Given the description of an element on the screen output the (x, y) to click on. 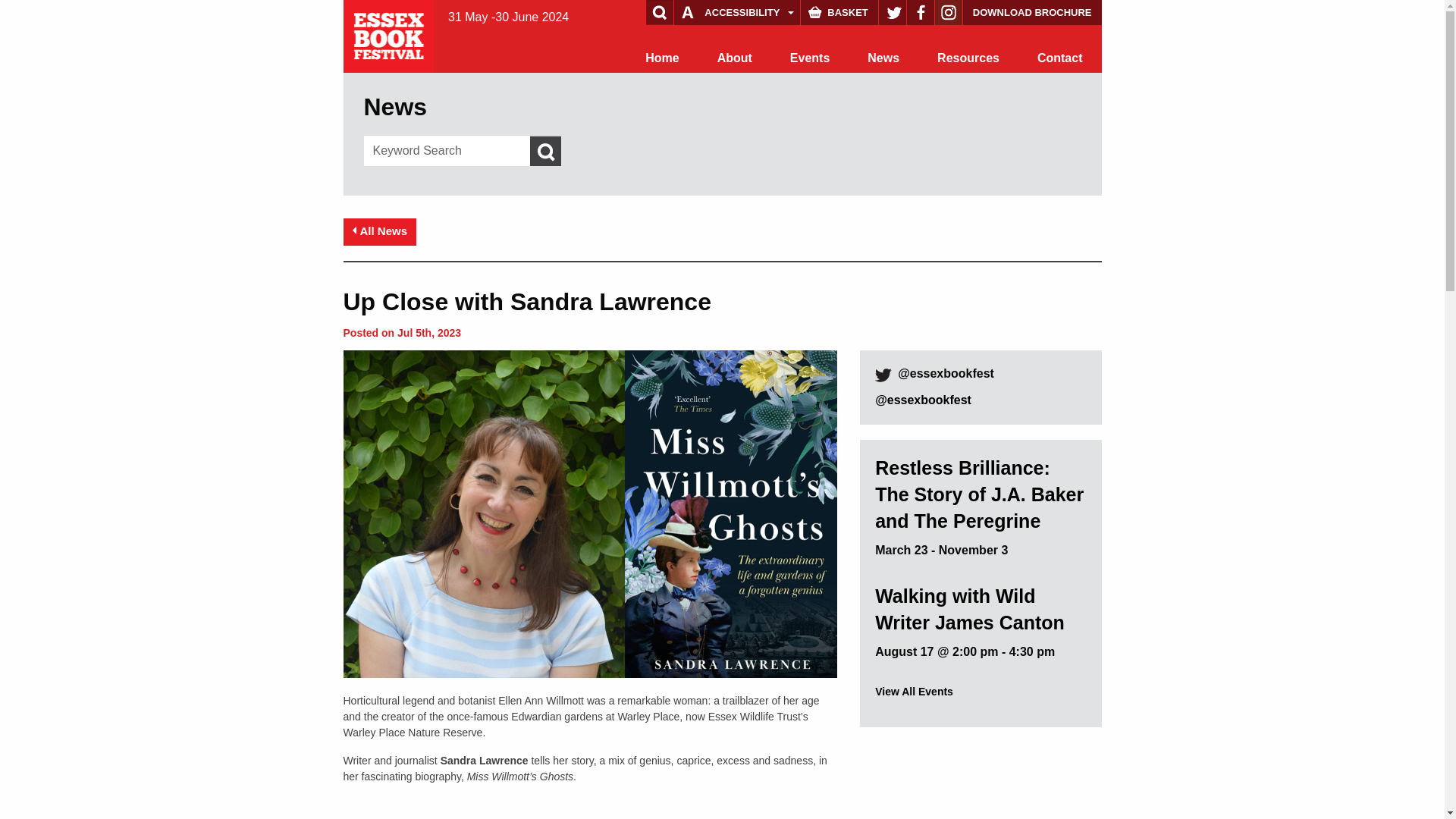
About (734, 58)
About us (734, 58)
Twitter (892, 12)
Events (809, 58)
Search site (41, 13)
Events (809, 58)
Home (661, 58)
Resources (967, 58)
Instagram (948, 12)
Shopping basket (838, 12)
